Given the description of an element on the screen output the (x, y) to click on. 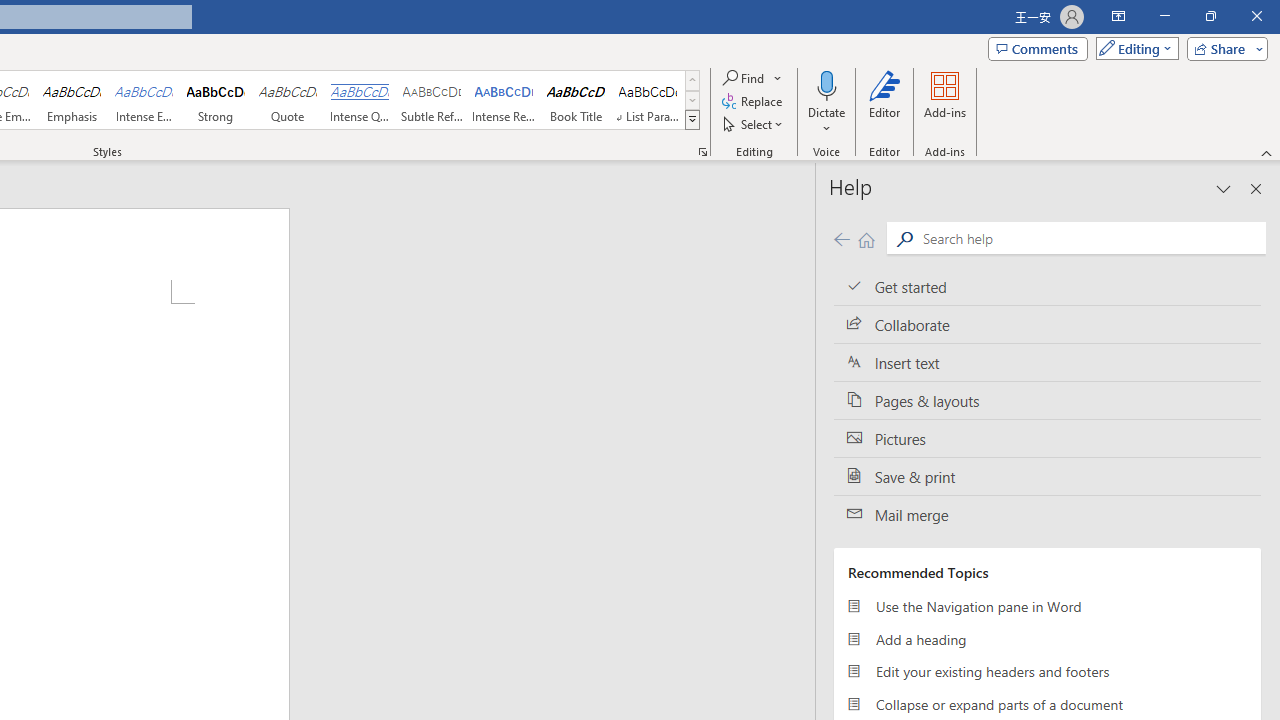
Intense Reference (504, 100)
Pictures (1047, 438)
Subtle Reference (431, 100)
Strong (216, 100)
Get started (1047, 286)
Previous page (841, 238)
